Given the description of an element on the screen output the (x, y) to click on. 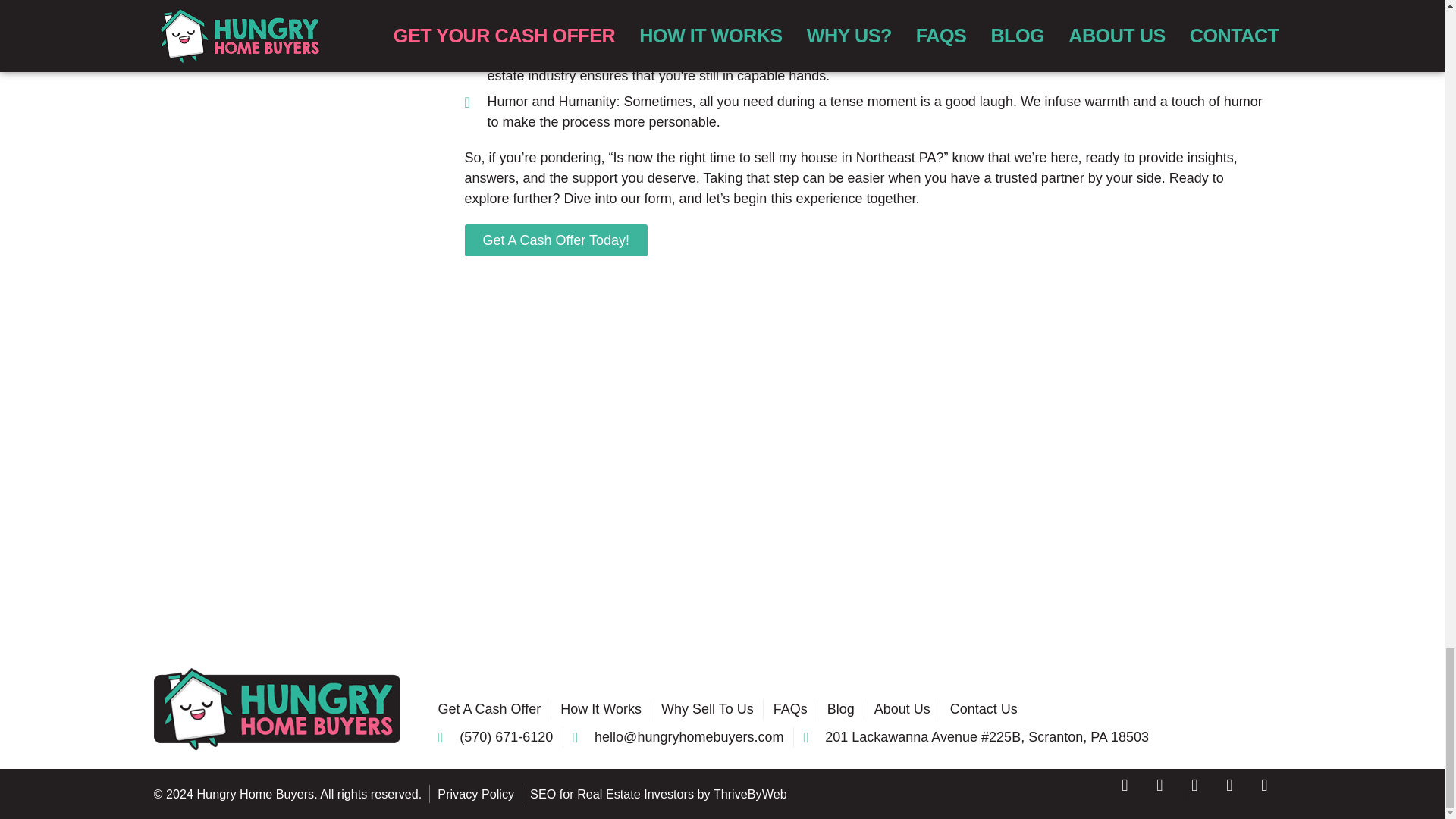
Get A Cash Offer Today! (555, 240)
